Given the description of an element on the screen output the (x, y) to click on. 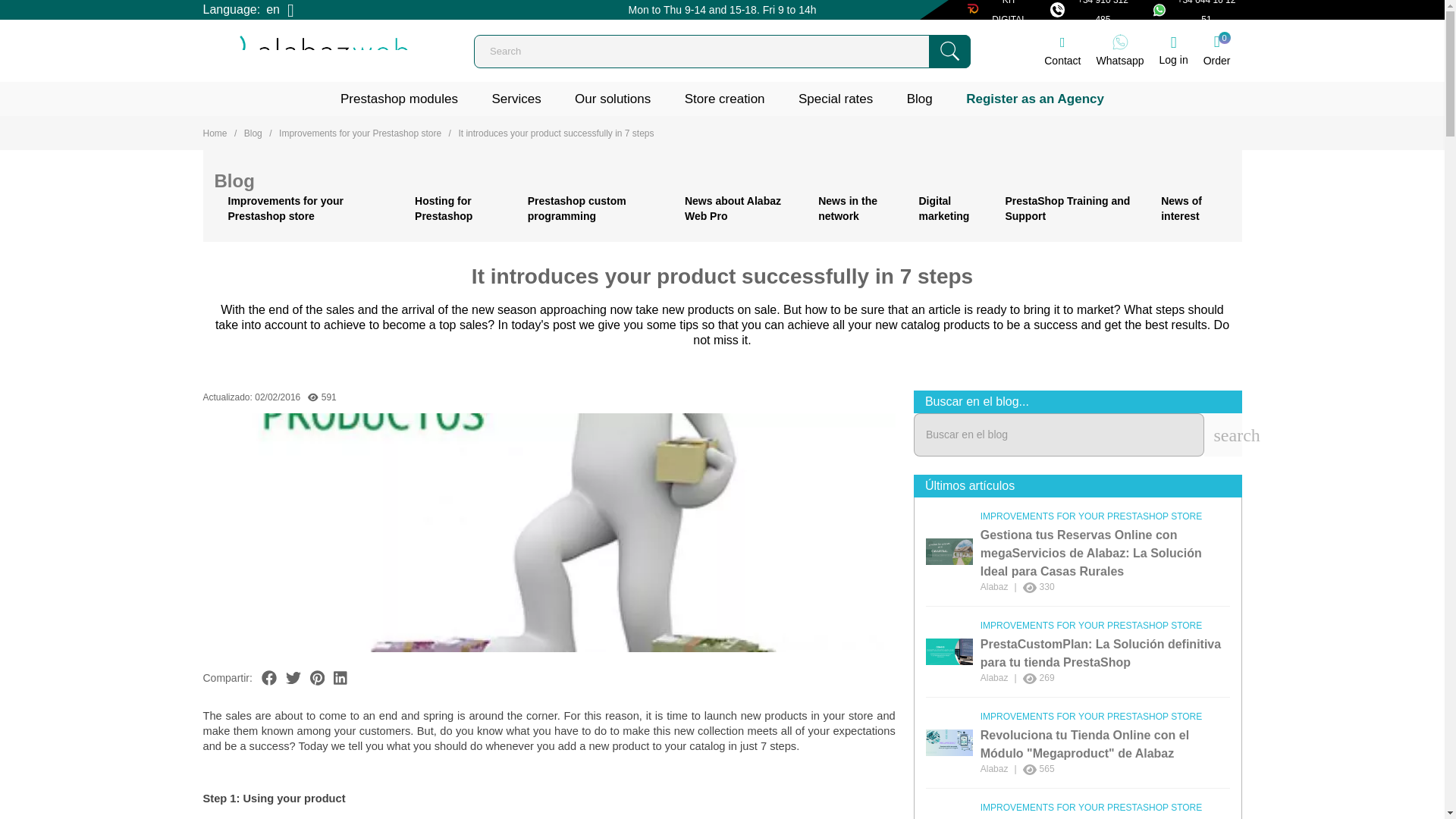
Log in to your customer account (1173, 51)
Whatsapp (1120, 49)
Prestashop modules (398, 98)
Contact (1061, 50)
Prestashop modules (398, 98)
KIT DIGITAL (998, 9)
Kit Digital (998, 9)
Whatsapp (1120, 49)
Log in (1173, 51)
Kit Digital (1093, 9)
